Given the description of an element on the screen output the (x, y) to click on. 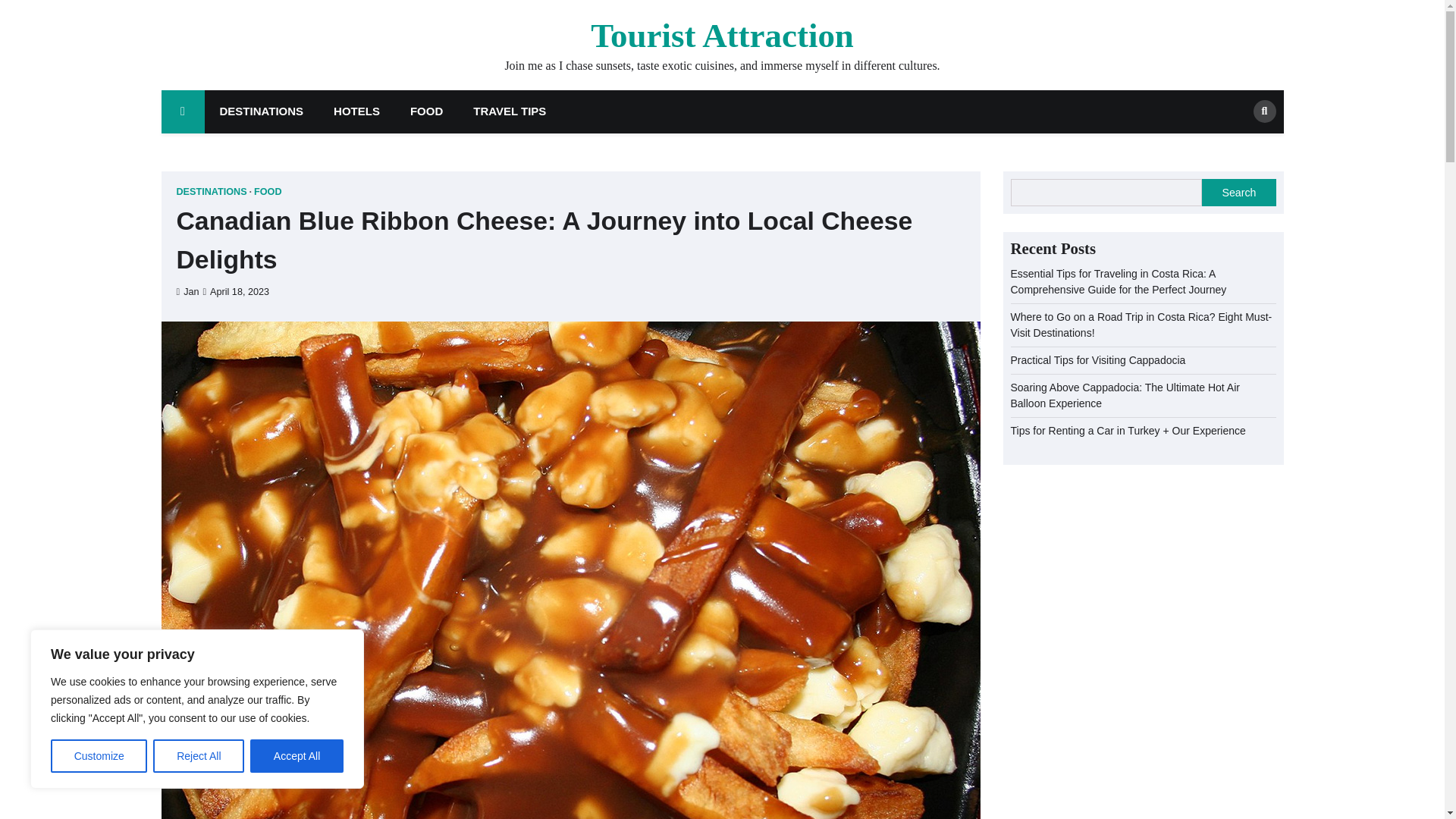
TRAVEL TIPS (509, 111)
Search (1263, 110)
HOTELS (356, 111)
Reject All (198, 756)
Accept All (296, 756)
FOOD (426, 111)
DESTINATIONS (261, 111)
Search (1238, 144)
April 18, 2023 (235, 291)
DESTINATIONS (213, 192)
